Given the description of an element on the screen output the (x, y) to click on. 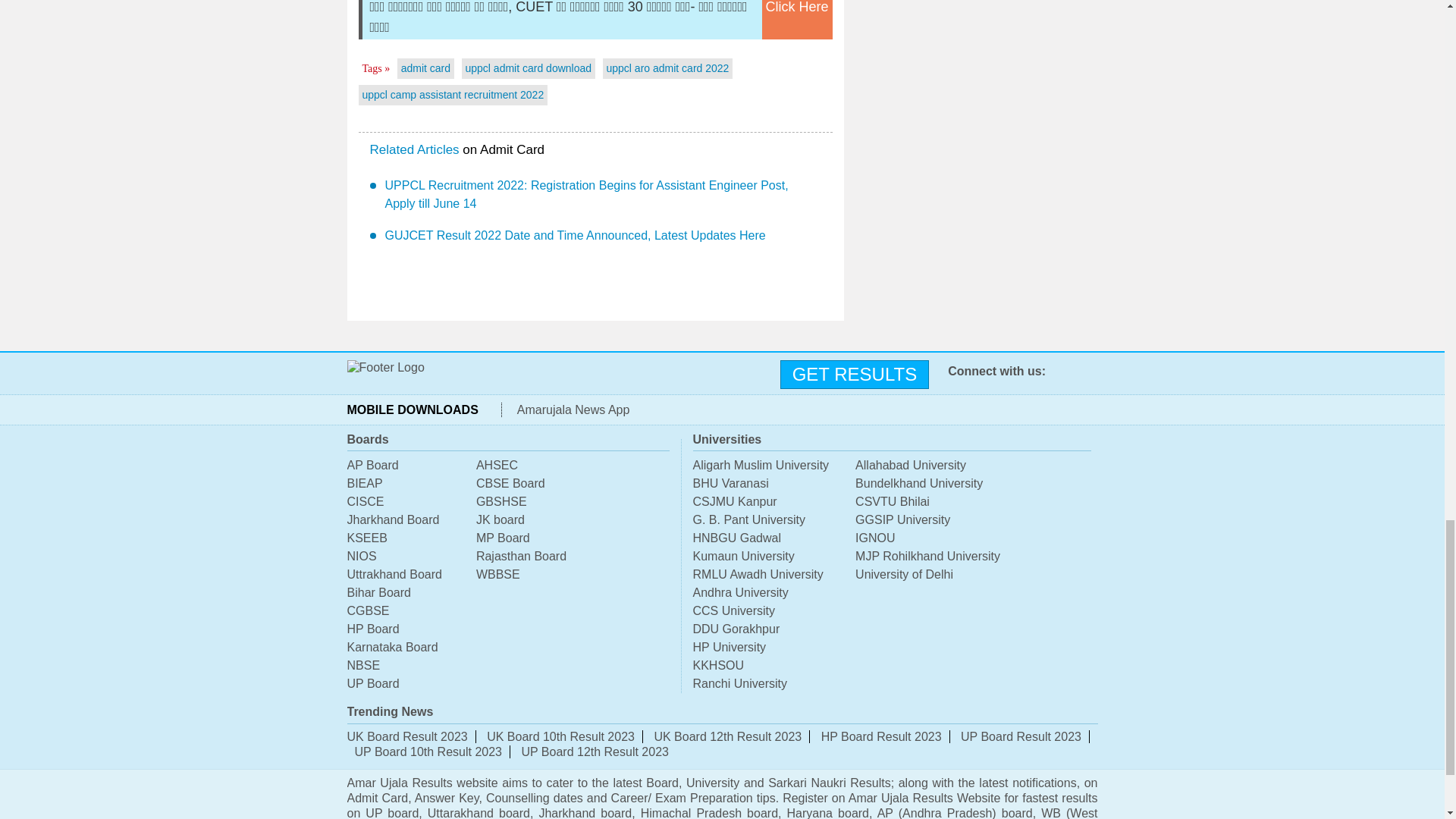
UK Board 10th Result 2023 (560, 736)
UP Board 10th Result 2023 (428, 751)
uppcl camp assistant recruitment 2022 (453, 94)
HP Board Result 2023 (881, 736)
UP Board 12th Result 2023 (594, 751)
UP Board Result 2023 (1020, 736)
UK Board 12th Result 2023 (727, 736)
admit card (425, 68)
